Given the description of an element on the screen output the (x, y) to click on. 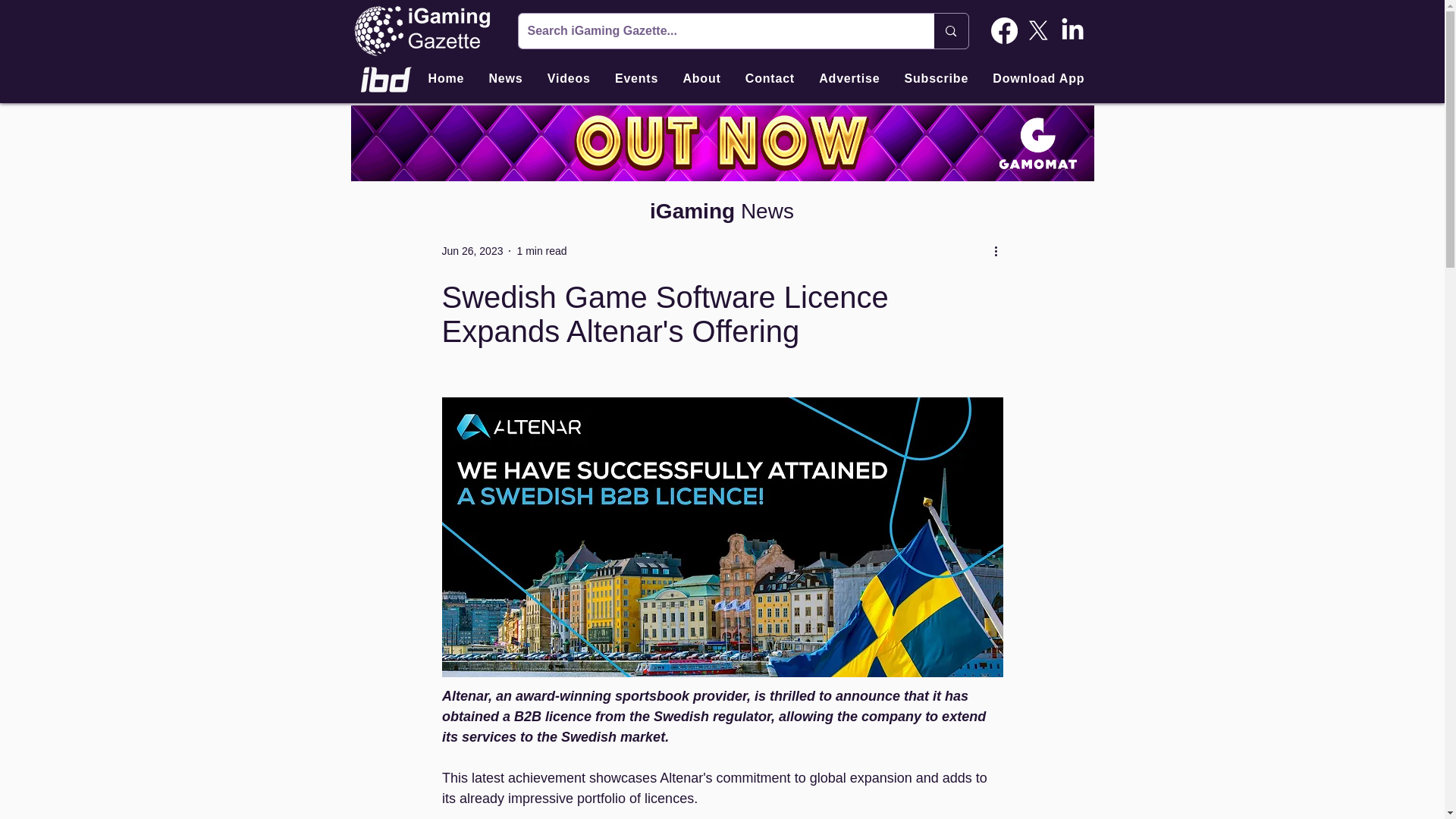
Home (446, 78)
Jun 26, 2023 (471, 250)
1 min read (541, 250)
Videos (568, 78)
News (505, 78)
